Given the description of an element on the screen output the (x, y) to click on. 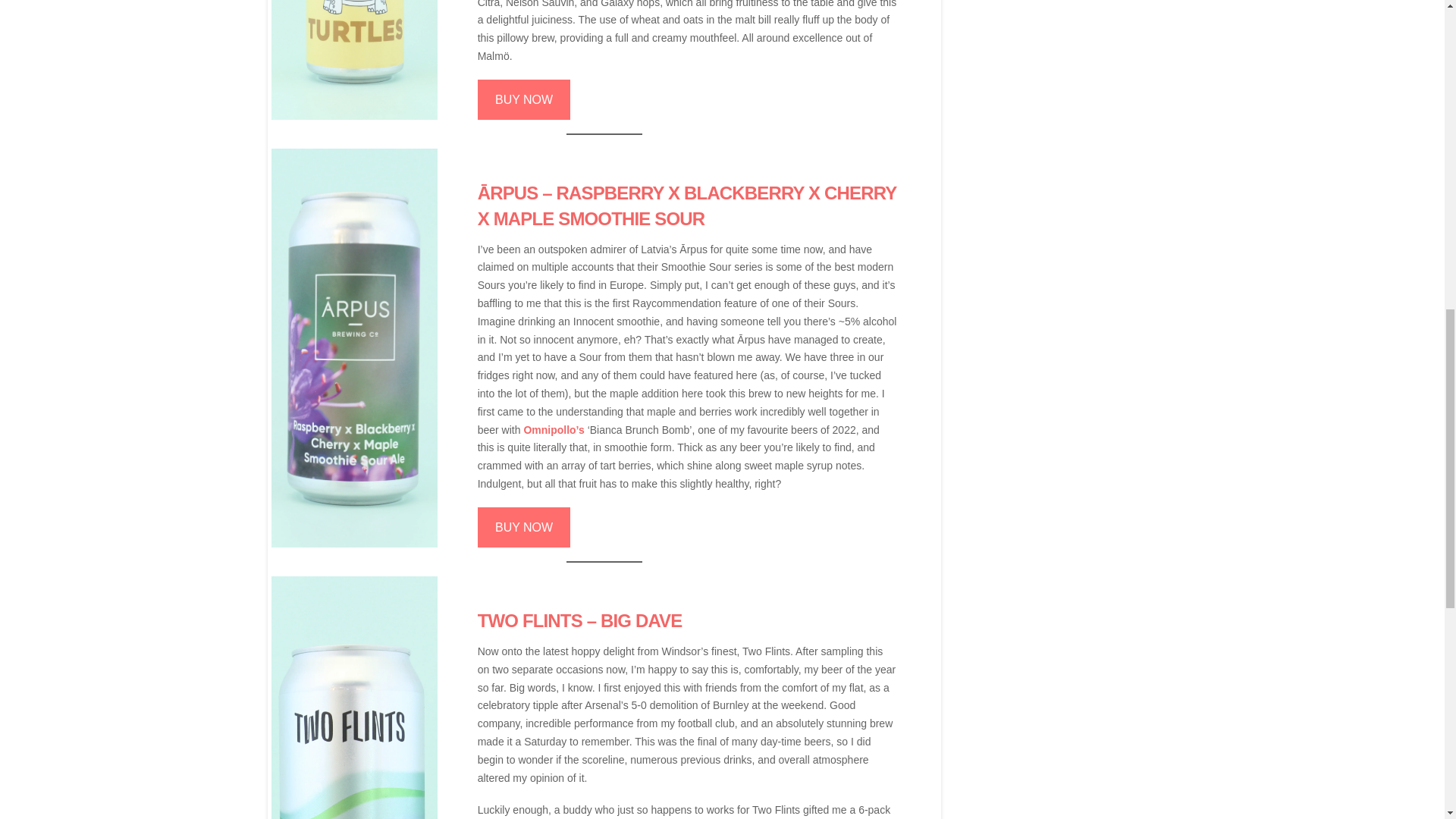
BUY NOW (523, 526)
BUY NOW (523, 99)
TWO FLINTS (529, 620)
